Given the description of an element on the screen output the (x, y) to click on. 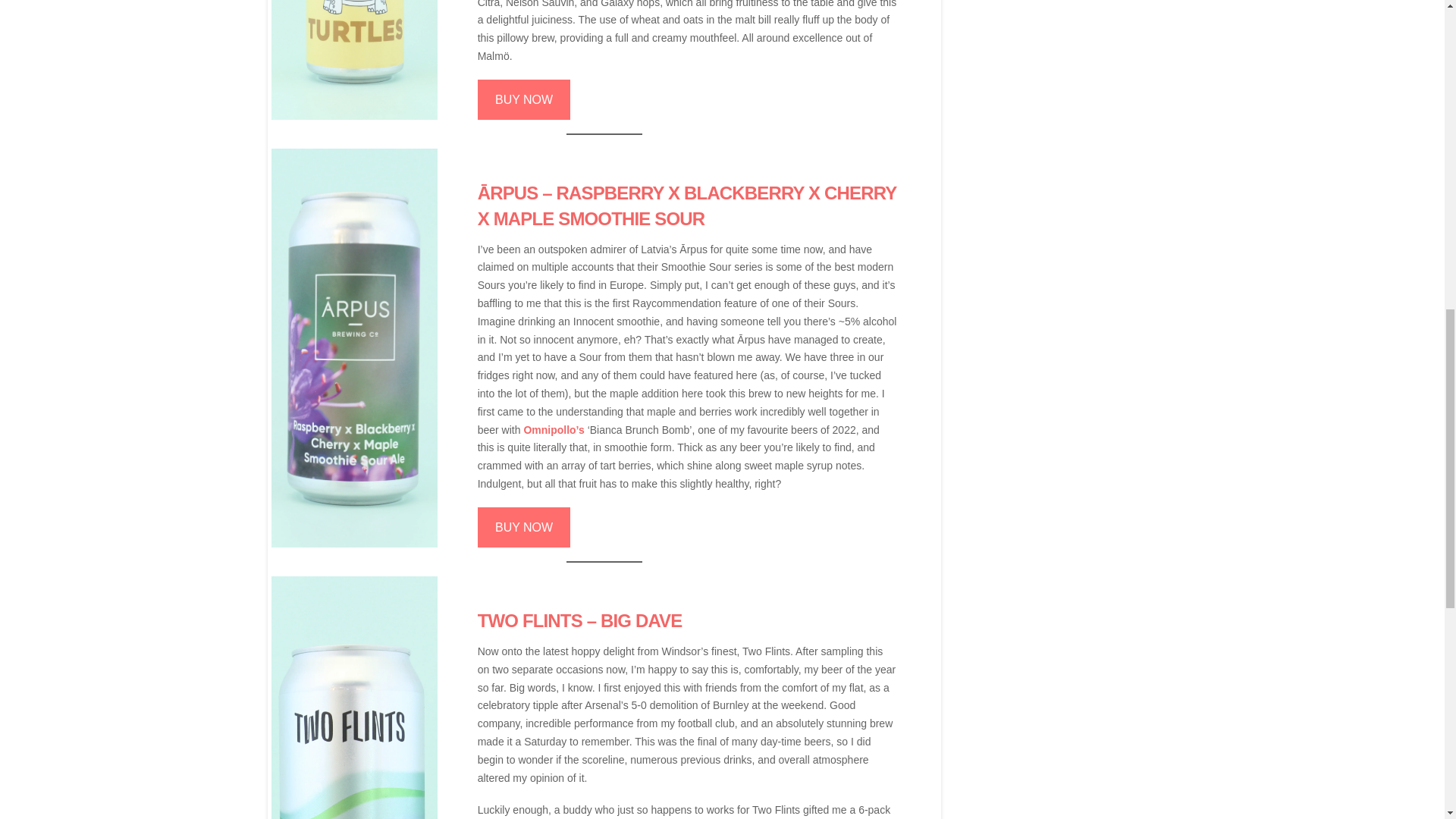
BUY NOW (523, 526)
BUY NOW (523, 99)
TWO FLINTS (529, 620)
